Given the description of an element on the screen output the (x, y) to click on. 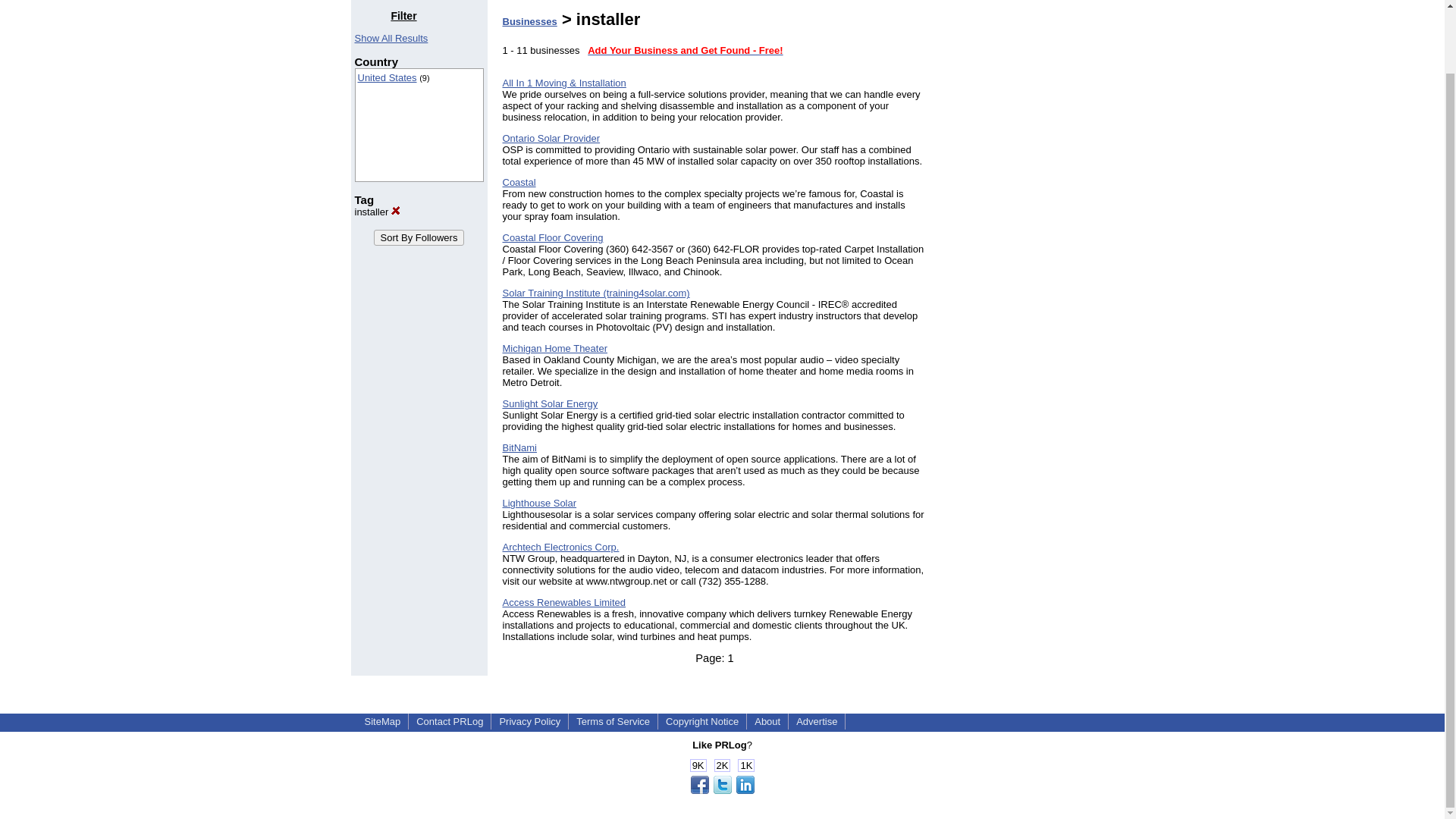
installer (377, 211)
United States (387, 77)
Coastal (518, 182)
Copyright Notice (701, 721)
Show All Results (391, 38)
Advertise (816, 721)
About (767, 721)
Ontario Solar Provider (550, 138)
Add Your Business and Get Found - Free! (685, 50)
Access Renewables Limited (564, 602)
